Given the description of an element on the screen output the (x, y) to click on. 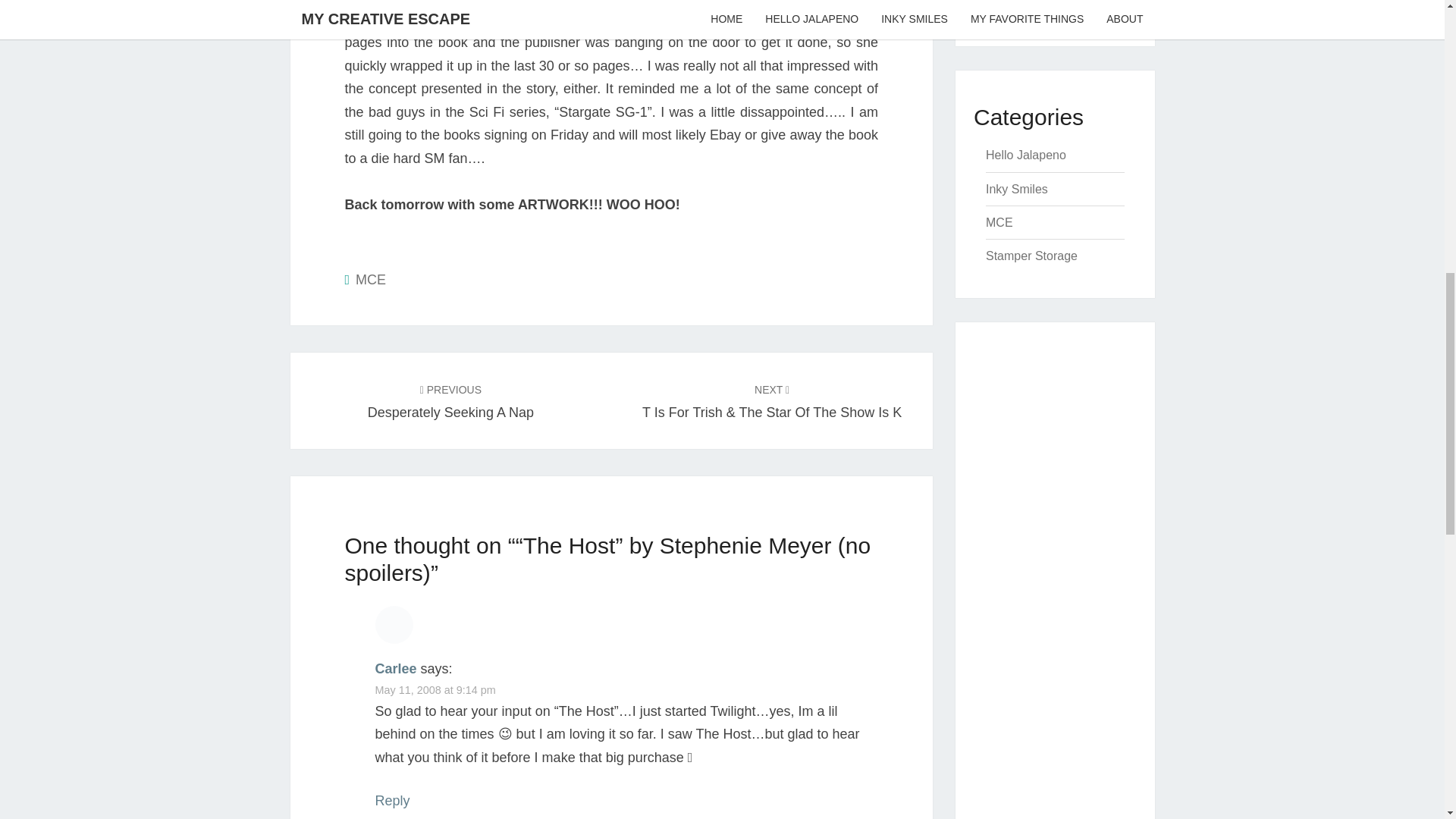
Stamper Storage (1031, 255)
Carlee (395, 668)
Hello Jalapeno (1025, 154)
Inky Smiles (1016, 188)
MCE (999, 222)
MCE (370, 279)
Reply (391, 800)
May 11, 2008 at 9:14 pm (434, 689)
Garlic Butter and Cracked Pepper Croutons (1043, 5)
